Given the description of an element on the screen output the (x, y) to click on. 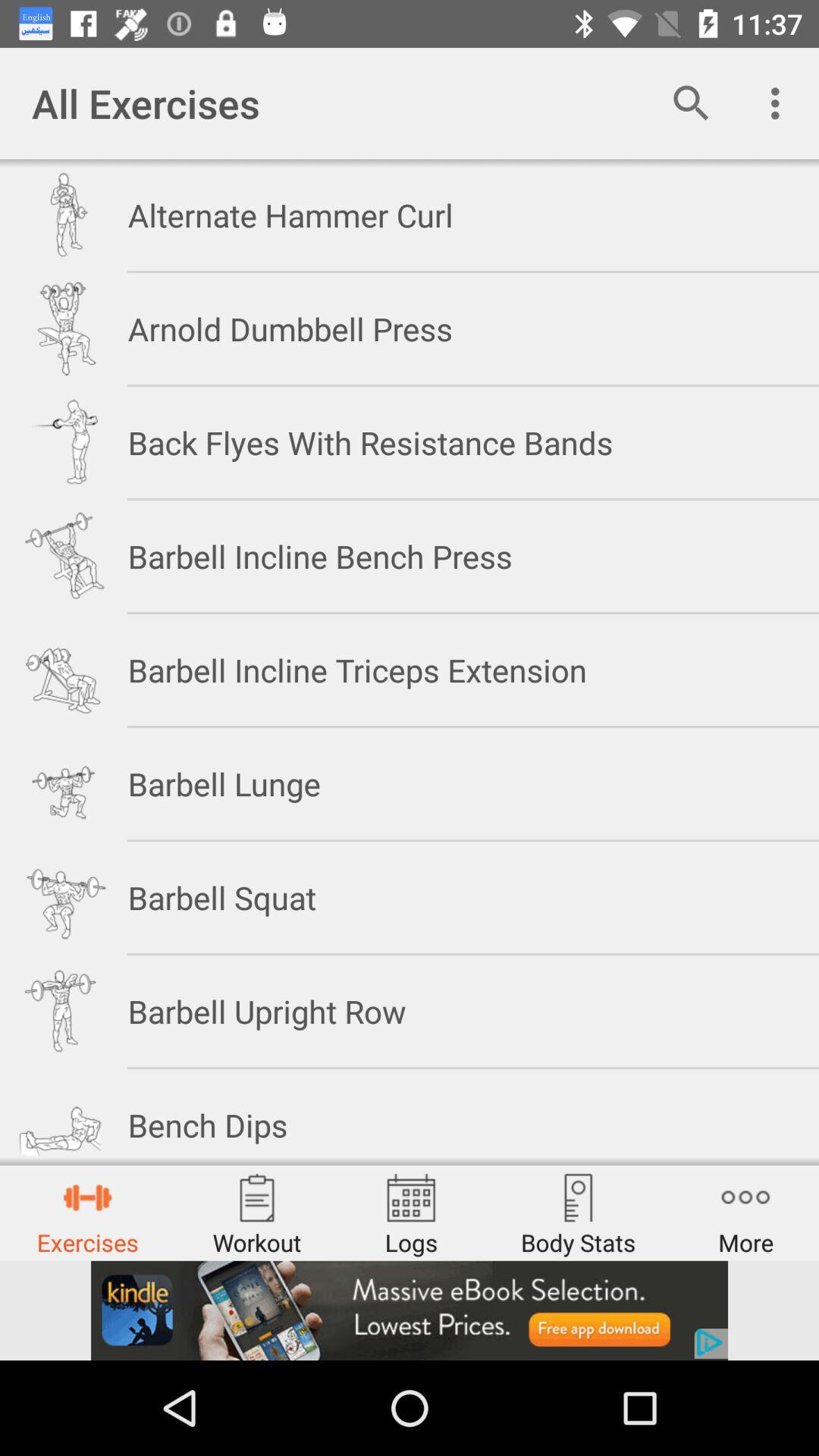
advisement (409, 1310)
